Given the description of an element on the screen output the (x, y) to click on. 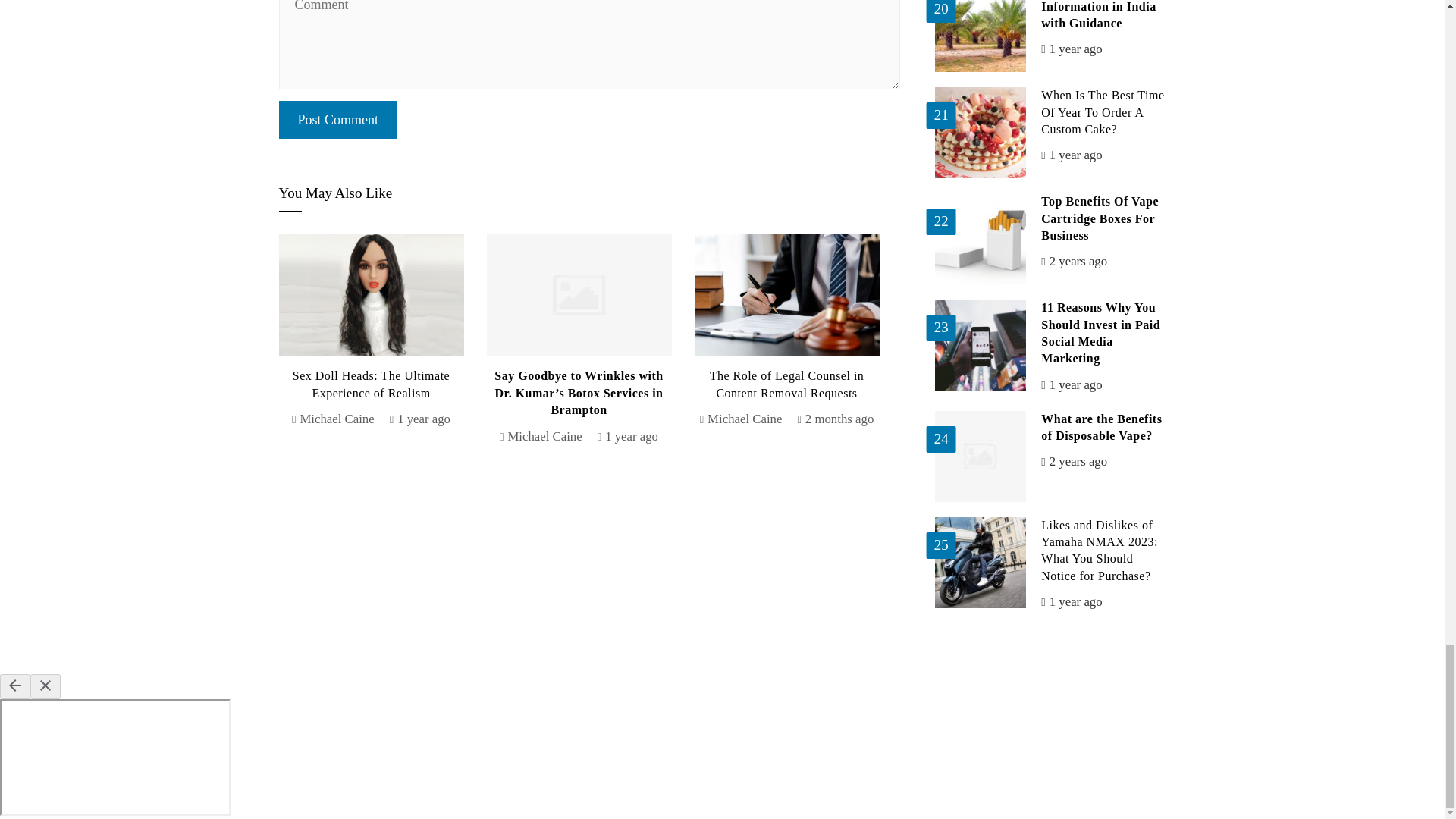
Post Comment (338, 119)
